Given the description of an element on the screen output the (x, y) to click on. 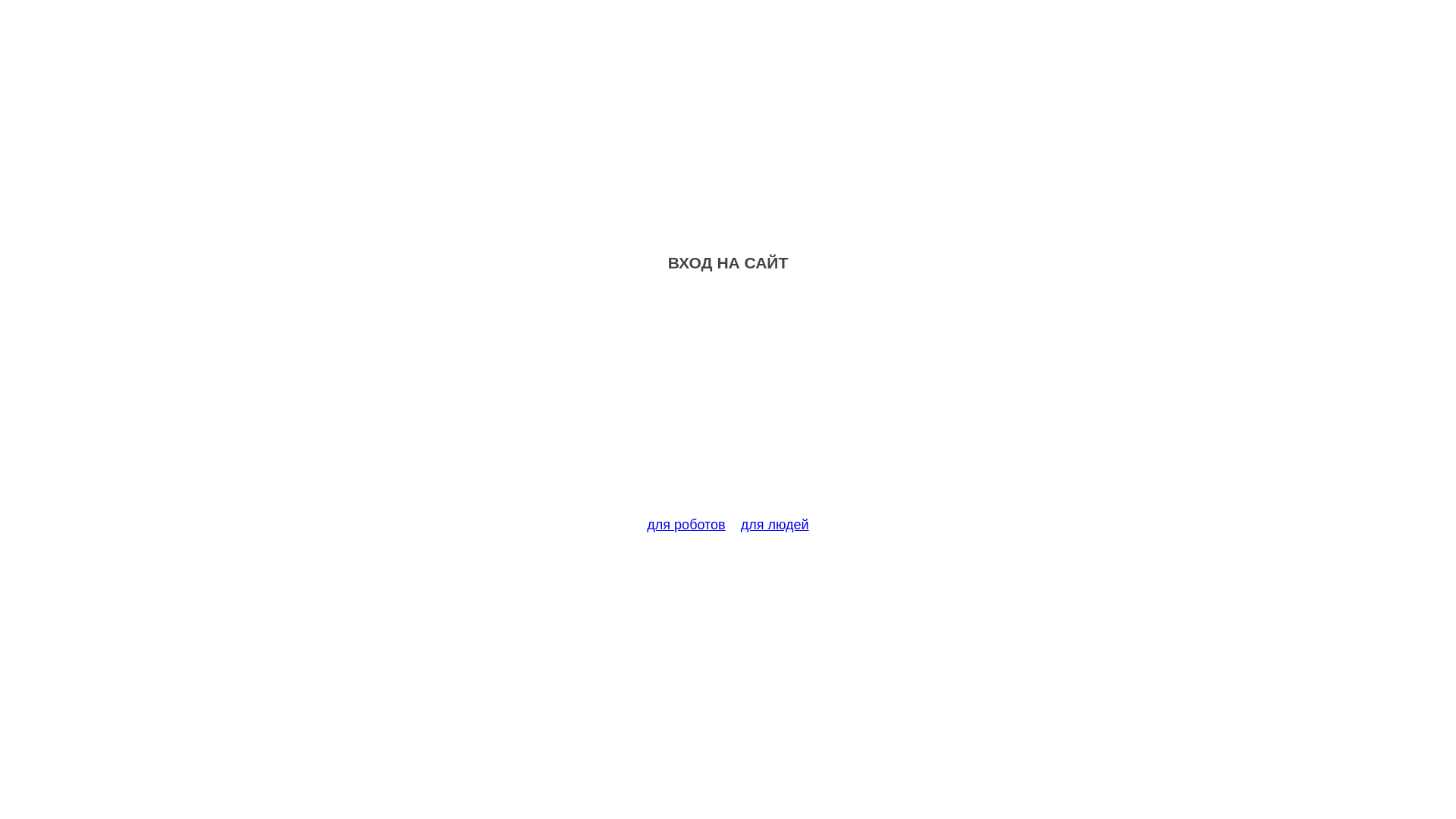
Advertisement Element type: hover (727, 403)
